Given the description of an element on the screen output the (x, y) to click on. 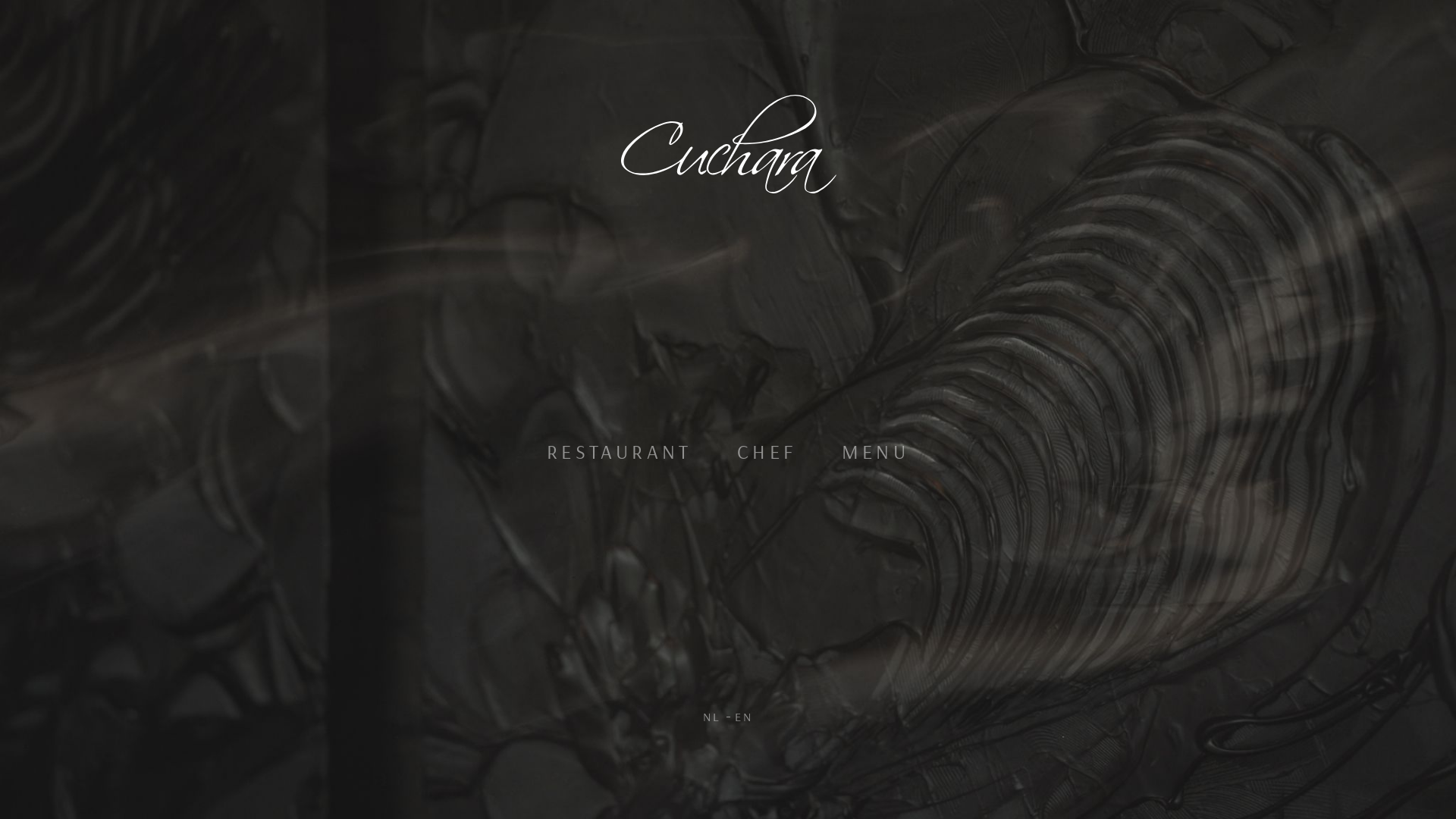
EN Element type: text (743, 716)
RESTAURANT Element type: text (618, 451)
CHEF Element type: text (766, 451)
NL Element type: text (711, 716)
MENU Element type: text (875, 451)
